Given the description of an element on the screen output the (x, y) to click on. 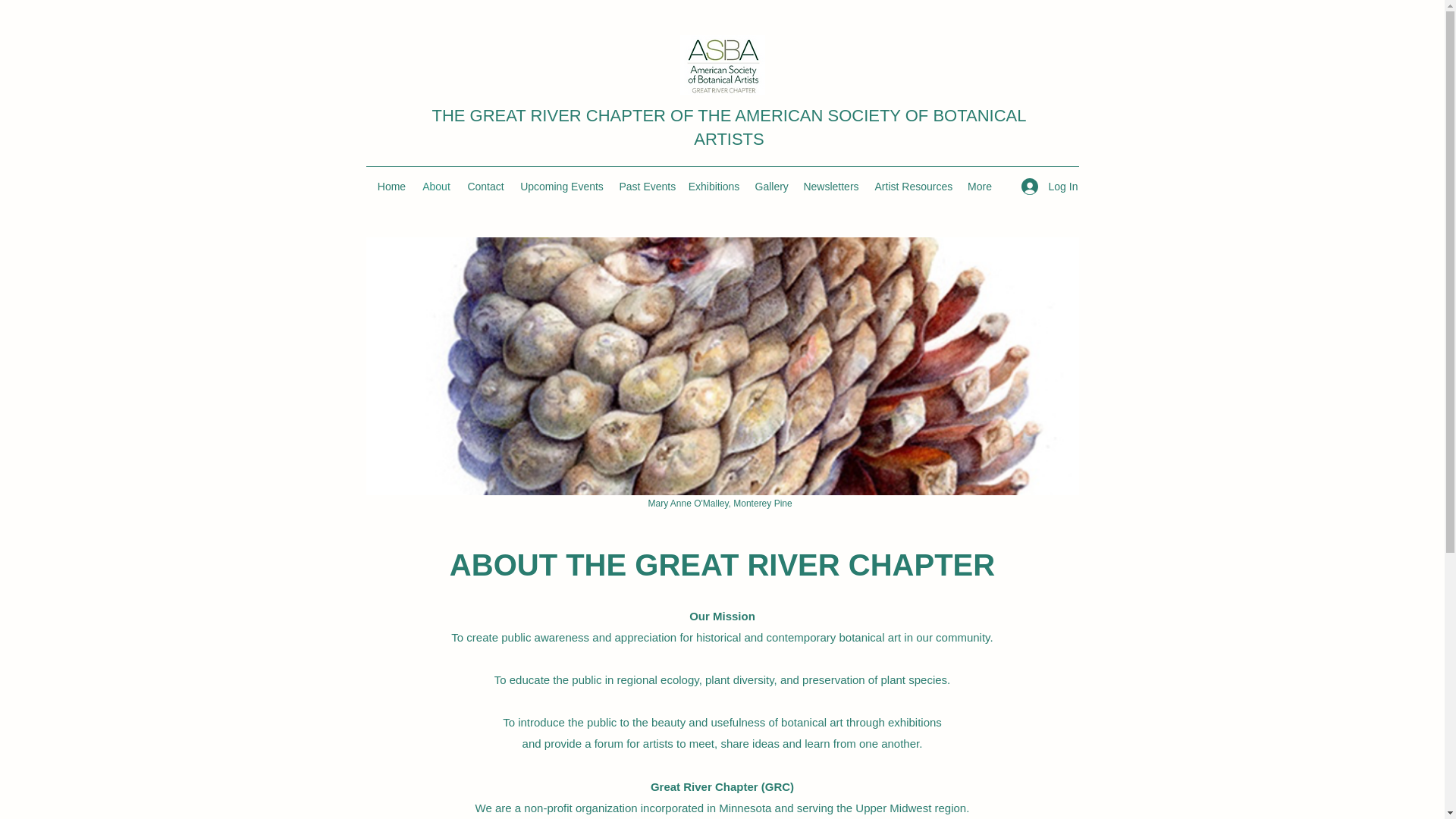
Exhibitions (714, 186)
Gallery (771, 186)
Home (391, 186)
About (436, 186)
Upcoming Events (561, 186)
Past Events (645, 186)
Contact (486, 186)
